Given the description of an element on the screen output the (x, y) to click on. 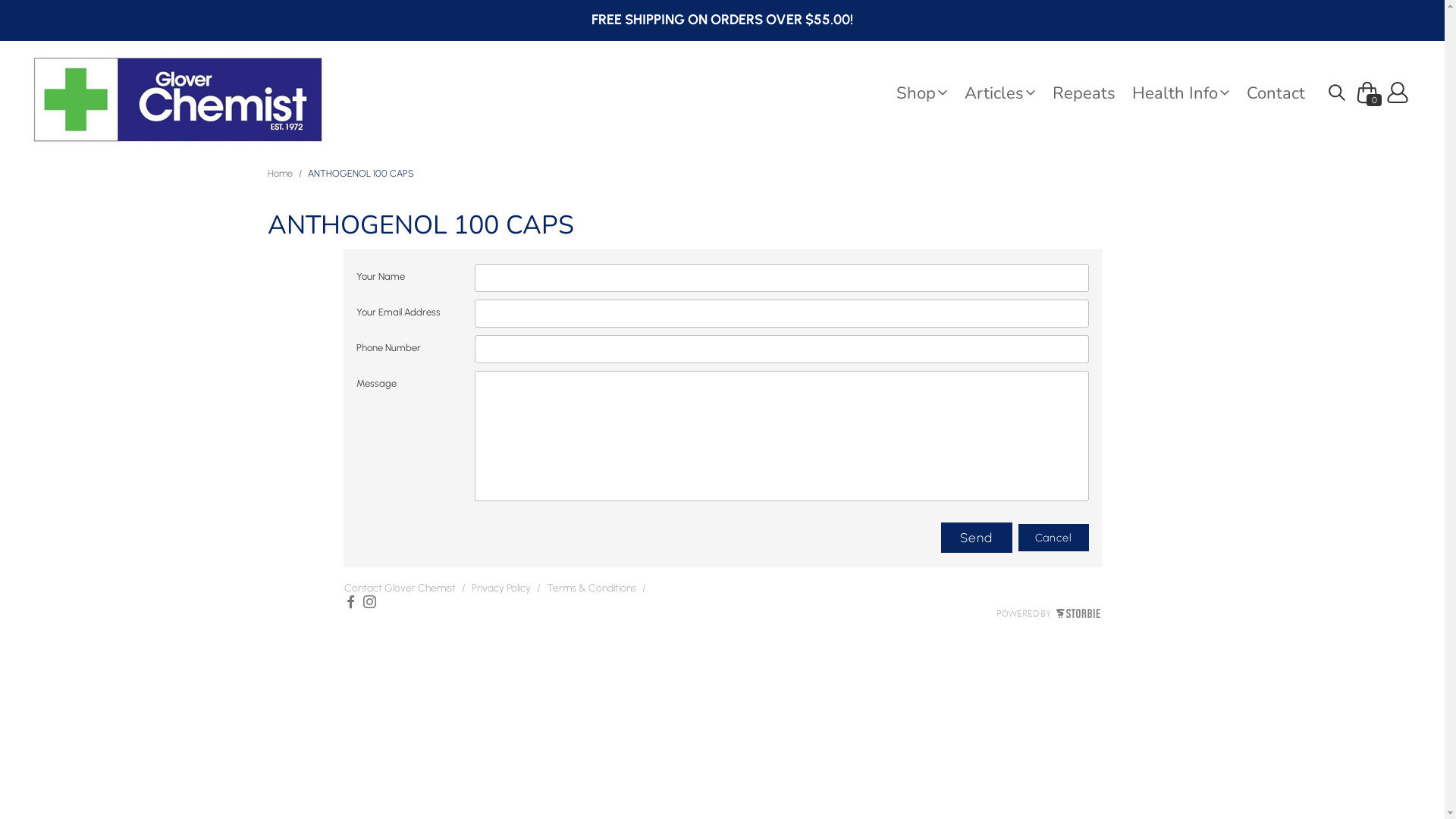
  0 Element type: text (1367, 84)
Cancel Element type: text (1053, 537)
Articles Element type: text (1008, 92)
Profile Element type: hover (1397, 92)
Facebook Element type: hover (350, 604)
Contact Glover Chemist Element type: text (399, 591)
Send Element type: text (976, 537)
Repeats Element type: text (1092, 92)
POWERED BY Element type: text (1048, 613)
Contact Element type: text (1283, 92)
Home Element type: text (278, 173)
  Element type: text (1336, 92)
ANTHOGENOL 100 CAPS Element type: text (360, 173)
Privacy Policy Element type: text (500, 591)
Health Info Element type: text (1189, 92)
Terms & Conditions Element type: text (590, 591)
Shop Element type: text (930, 92)
Instagram Element type: hover (369, 604)
Search Element type: hover (1336, 92)
